Given the description of an element on the screen output the (x, y) to click on. 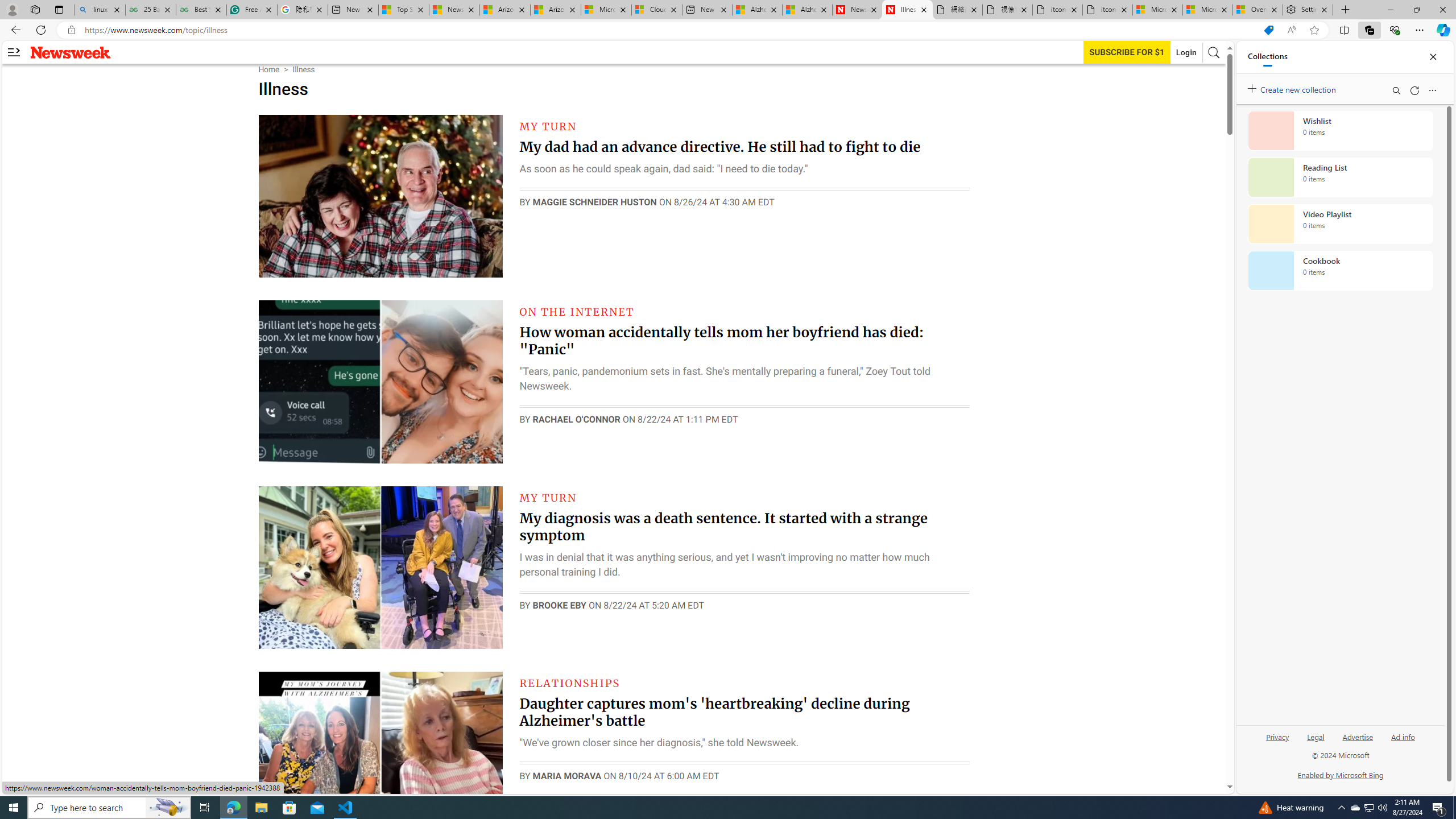
Subscribe to our service (1126, 52)
MY TURN (547, 497)
itconcepthk.com/projector_solutions.mp4 (1107, 9)
More options menu (1432, 90)
